Given the description of an element on the screen output the (x, y) to click on. 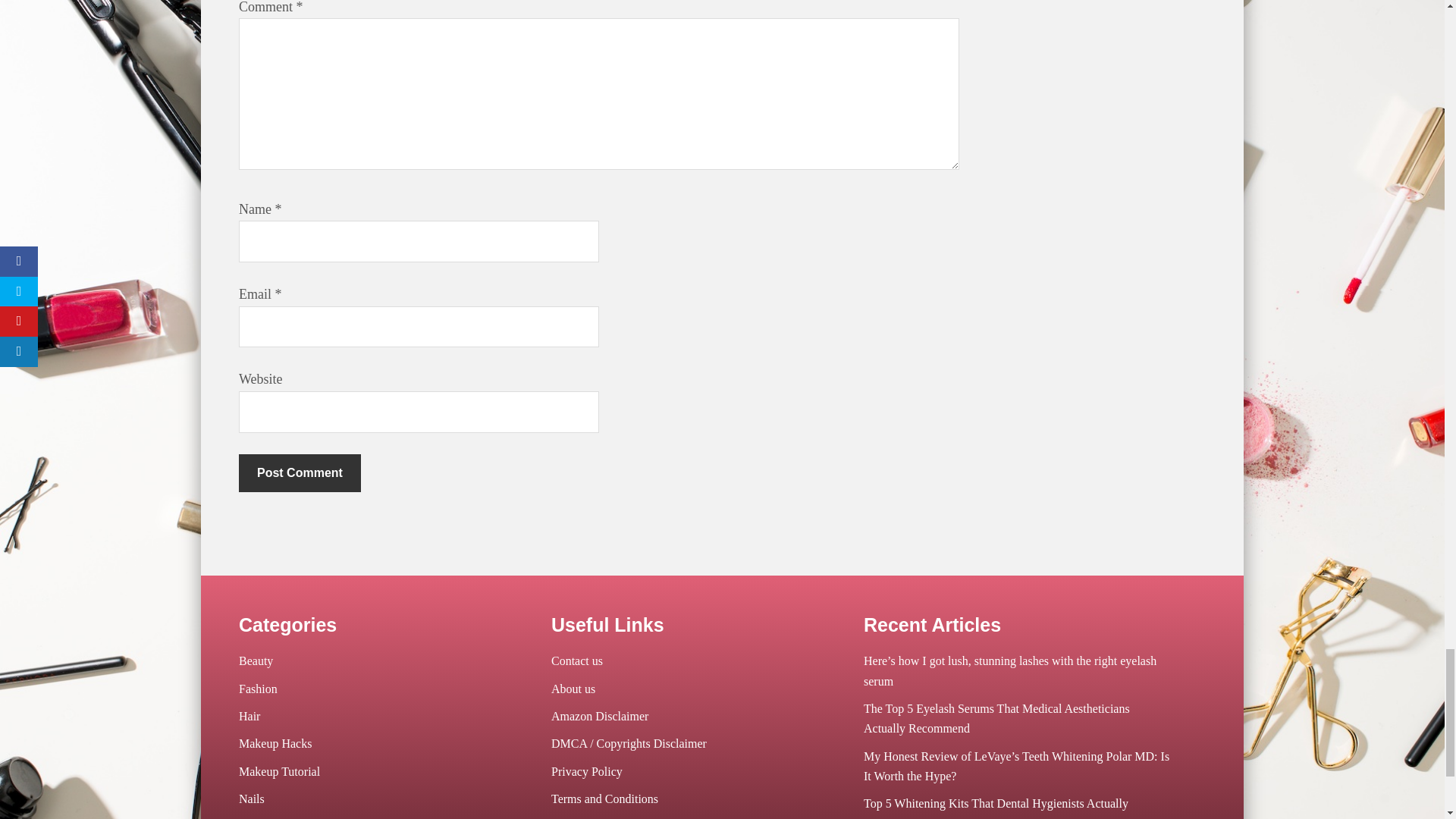
Post Comment (299, 473)
